Given the description of an element on the screen output the (x, y) to click on. 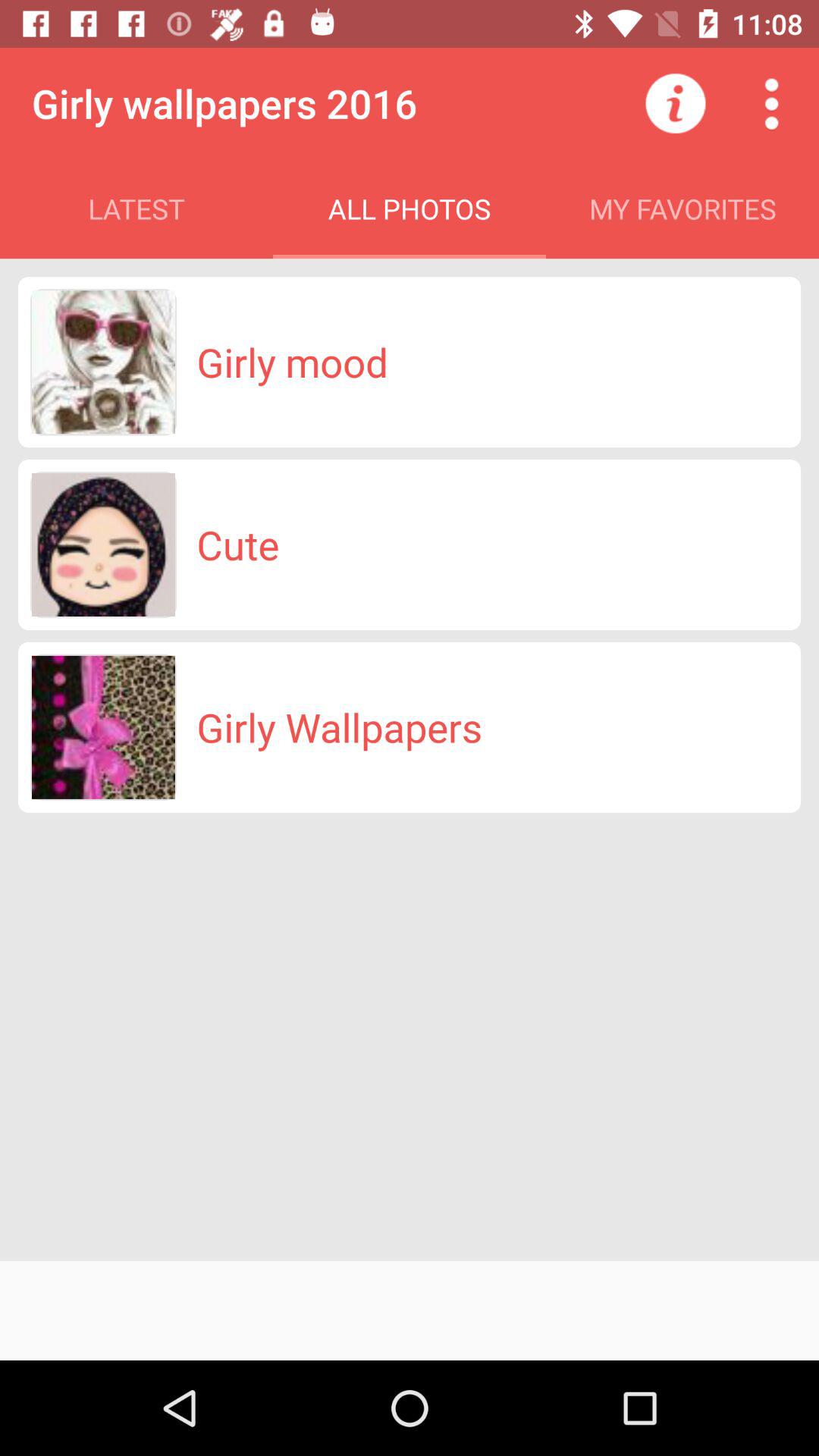
swipe to cute (237, 544)
